Given the description of an element on the screen output the (x, y) to click on. 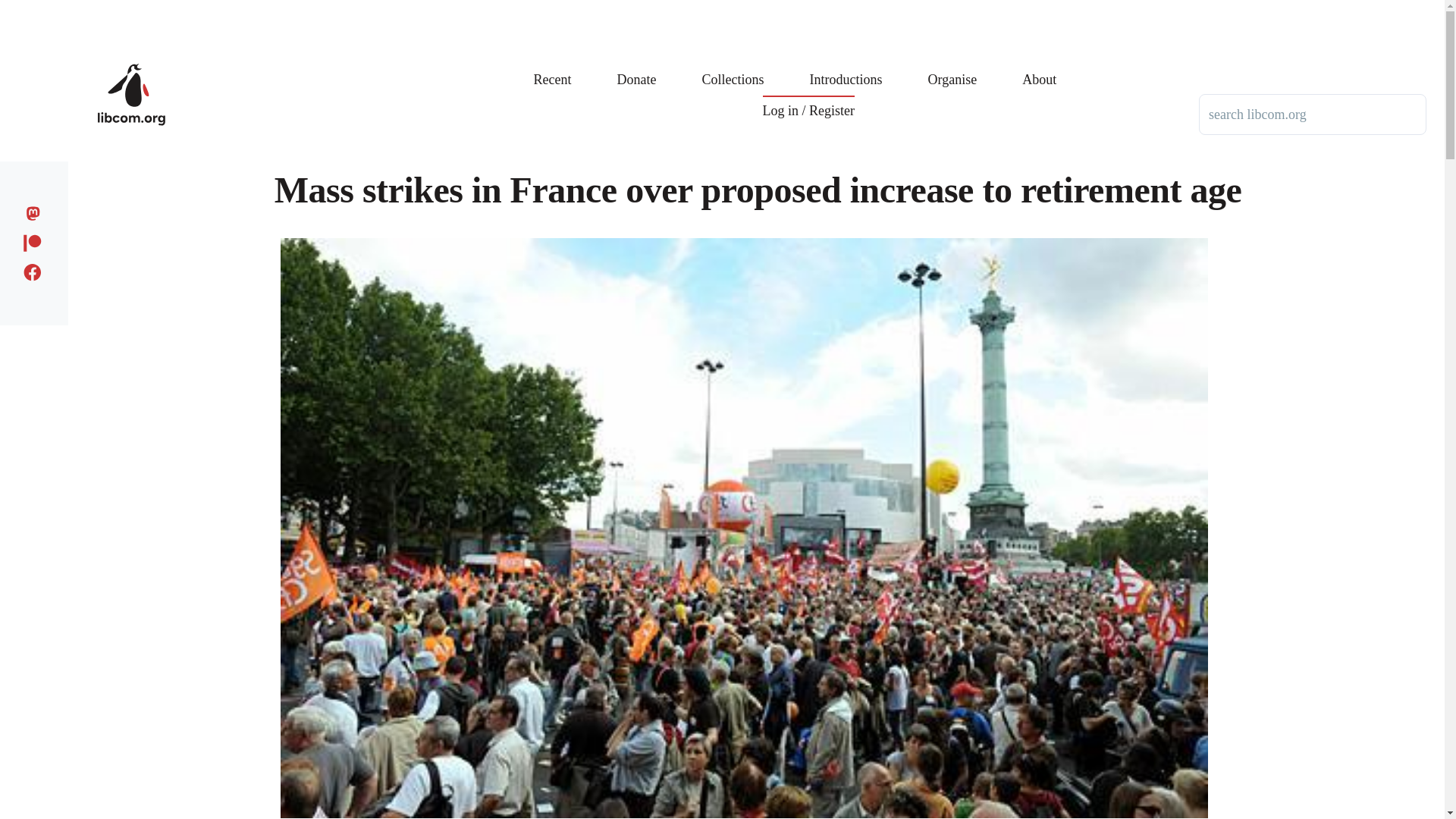
Follow us on Mastodon (36, 210)
Organise (952, 68)
Skip to main content (595, 6)
Support us on patreon (36, 239)
Collections (732, 68)
Like us on facebook (36, 269)
Introductions (845, 68)
